Given the description of an element on the screen output the (x, y) to click on. 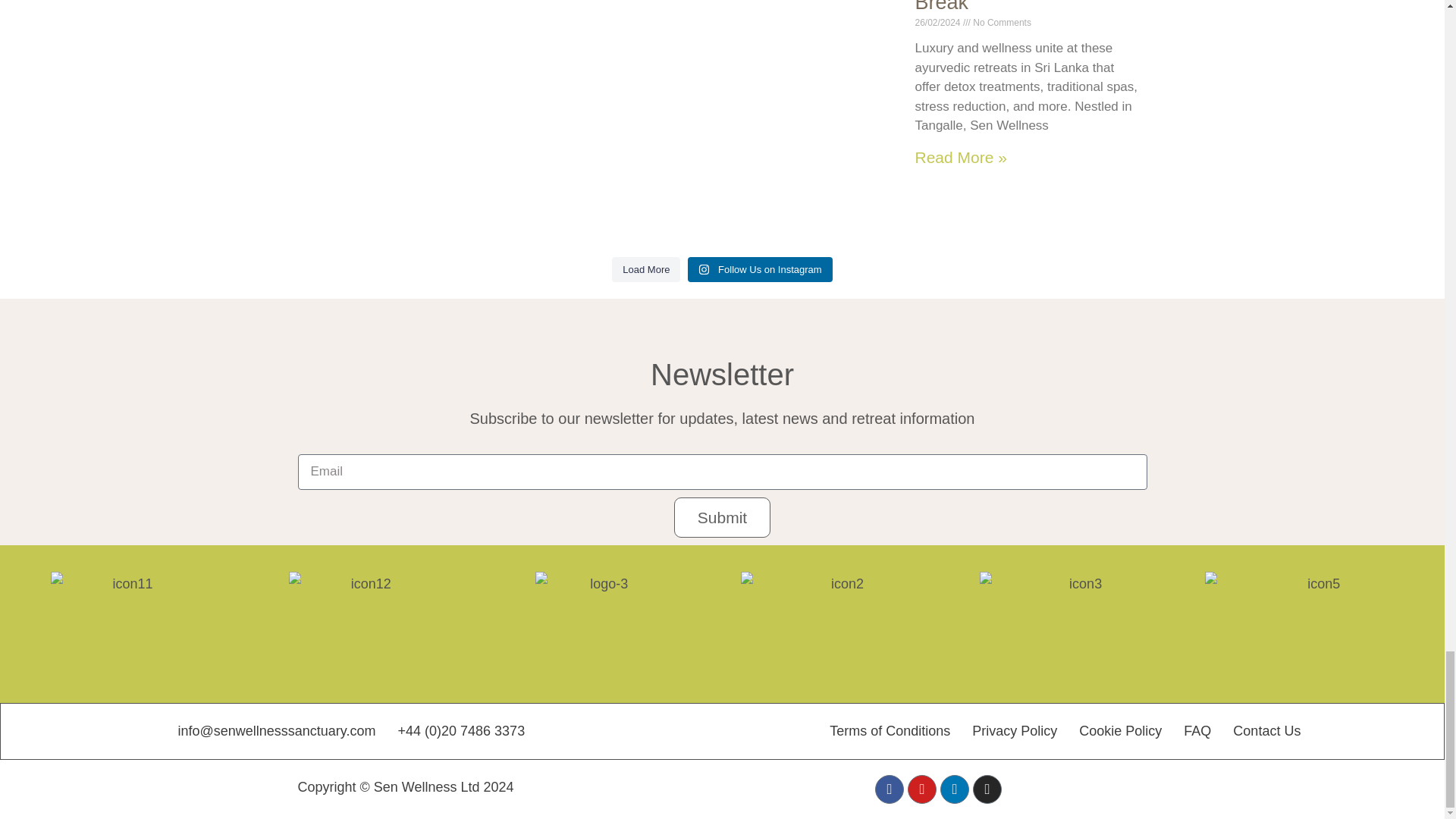
Rebecca Taleb (965, 790)
